Given the description of an element on the screen output the (x, y) to click on. 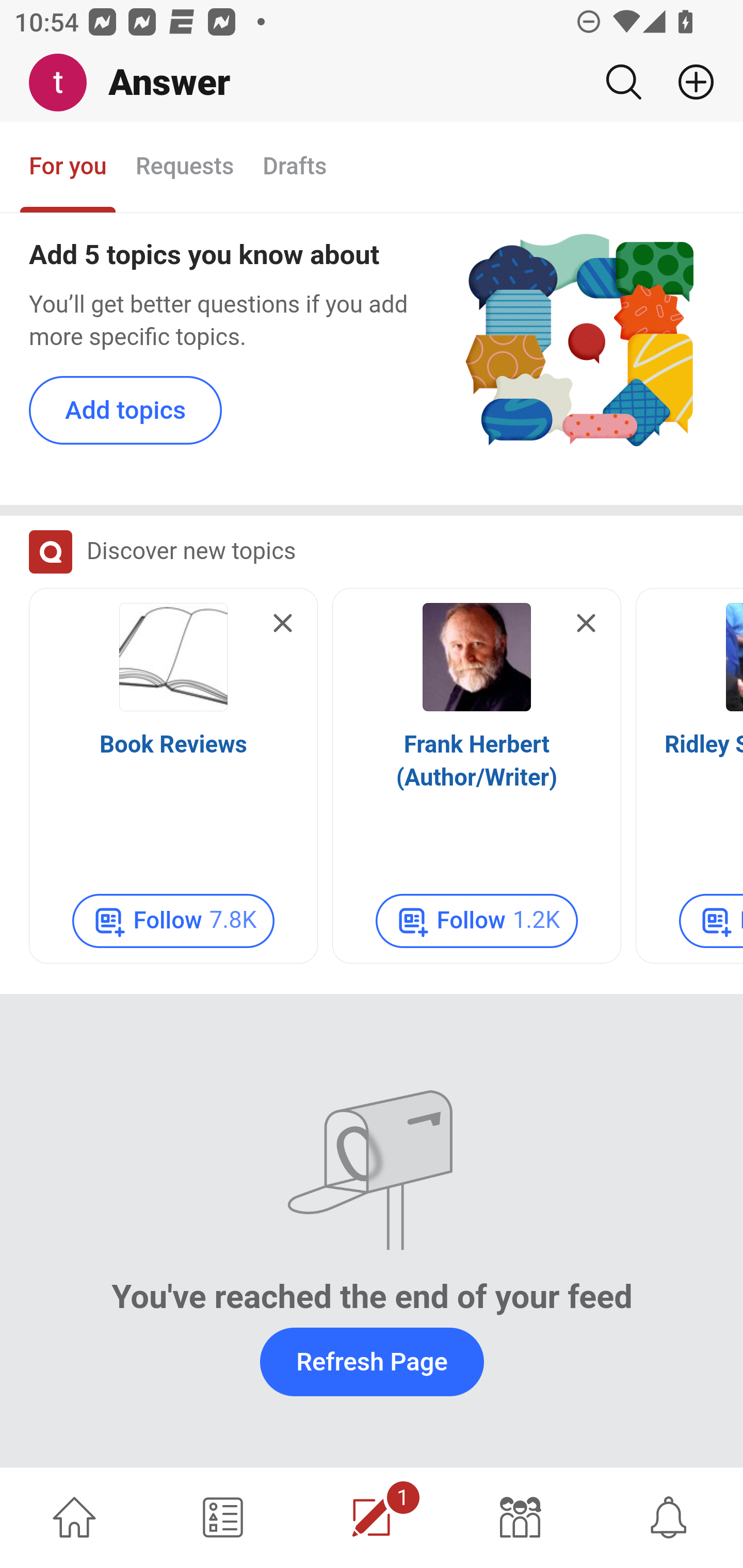
Me (64, 83)
Search (623, 82)
Add (688, 82)
For you (68, 167)
Requests (183, 167)
Drafts (295, 167)
Add topics (125, 411)
Hide this card (282, 624)
Hide this card (585, 624)
Icon for Book Reviews (173, 658)
Icon for Frank Herbert (Author/Writer) (476, 658)
Book Reviews (172, 746)
Frank Herbert (Author/Writer) (476, 762)
Follow 7.8K (172, 921)
Follow 1.2K (476, 921)
Refresh Page (371, 1362)
